Given the description of an element on the screen output the (x, y) to click on. 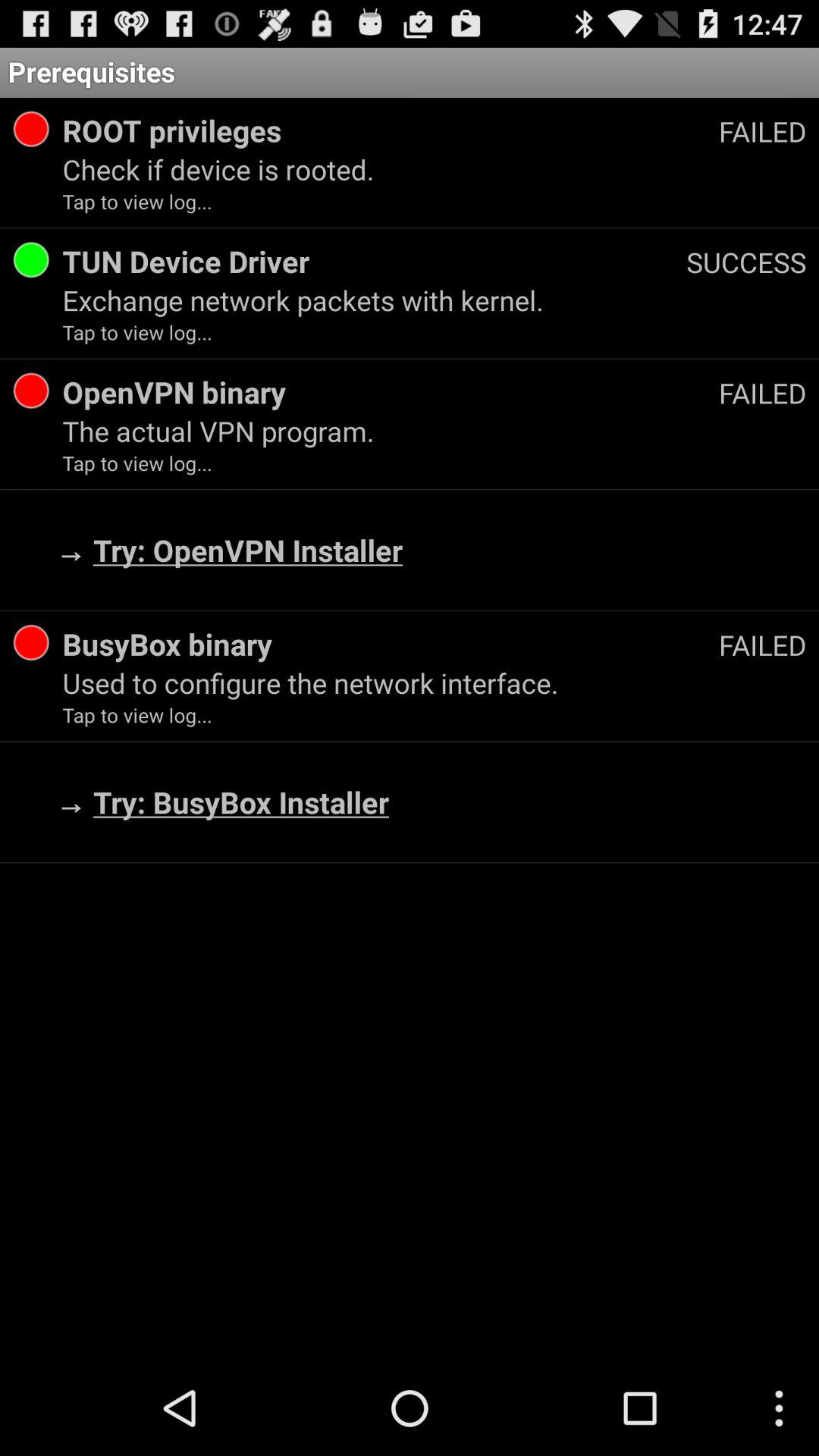
turn off the item above check if device icon (390, 130)
